Given the description of an element on the screen output the (x, y) to click on. 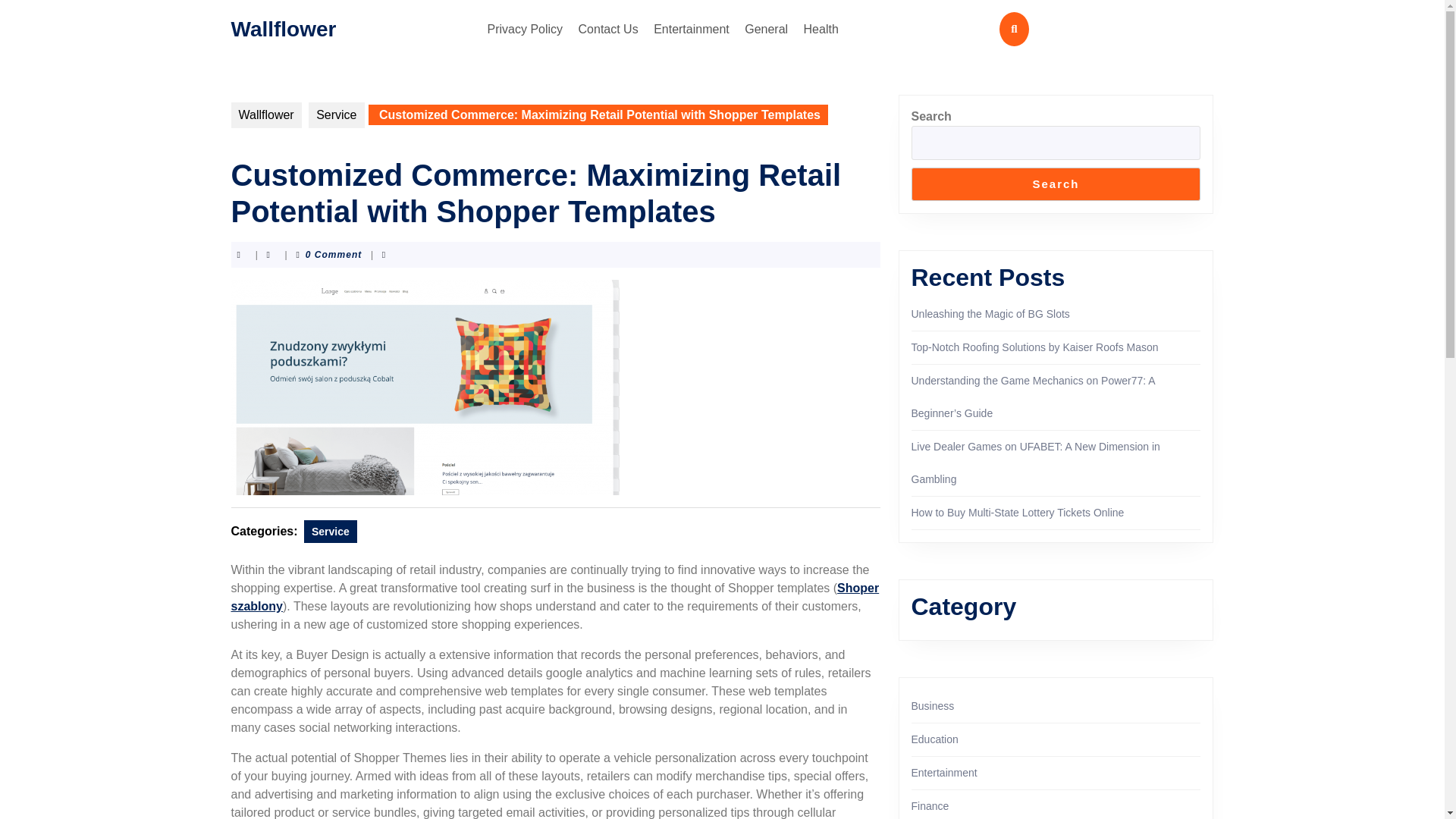
Service (336, 114)
Privacy Policy (524, 28)
Entertainment (691, 28)
Service (330, 531)
Health (820, 28)
Contact Us (608, 28)
Wallflower (283, 28)
Live Dealer Games on UFABET: A New Dimension in Gambling (1035, 462)
Wallflower (265, 114)
Shoper szablony (554, 596)
